Given the description of an element on the screen output the (x, y) to click on. 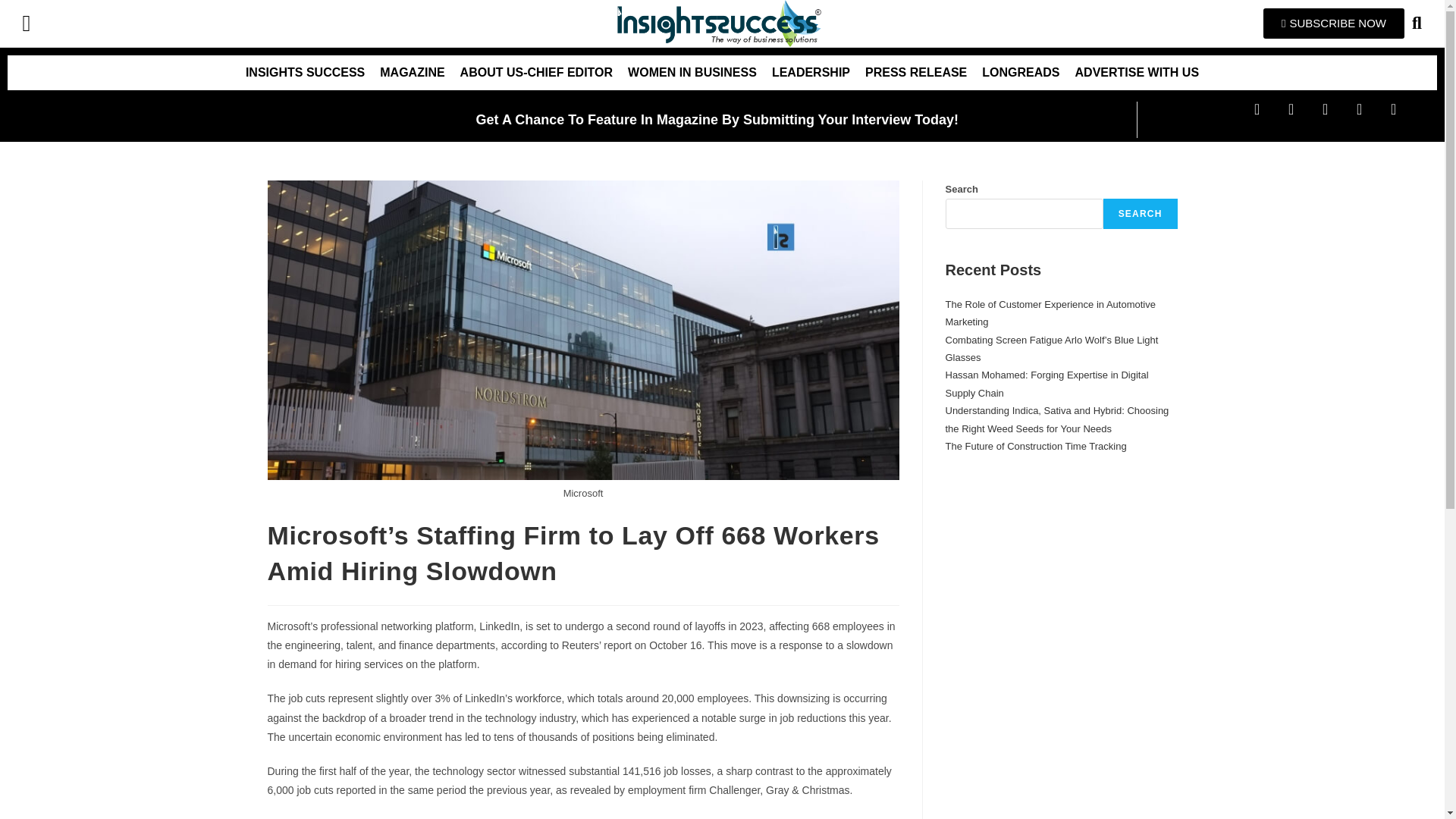
The Role of Customer Experience in Automotive Marketing (1049, 312)
LONGREADS (1020, 72)
The Future of Construction Time Tracking (1034, 446)
Hassan Mohamed: Forging Expertise in Digital Supply Chain (1046, 383)
LEADERSHIP (810, 72)
MAGAZINE (411, 72)
WOMEN IN BUSINESS (692, 72)
PRESS RELEASE (915, 72)
INSIGHTS SUCCESS (305, 72)
ABOUT US-CHIEF EDITOR (536, 72)
SEARCH (1140, 214)
SUBSCRIBE NOW (1334, 23)
